Given the description of an element on the screen output the (x, y) to click on. 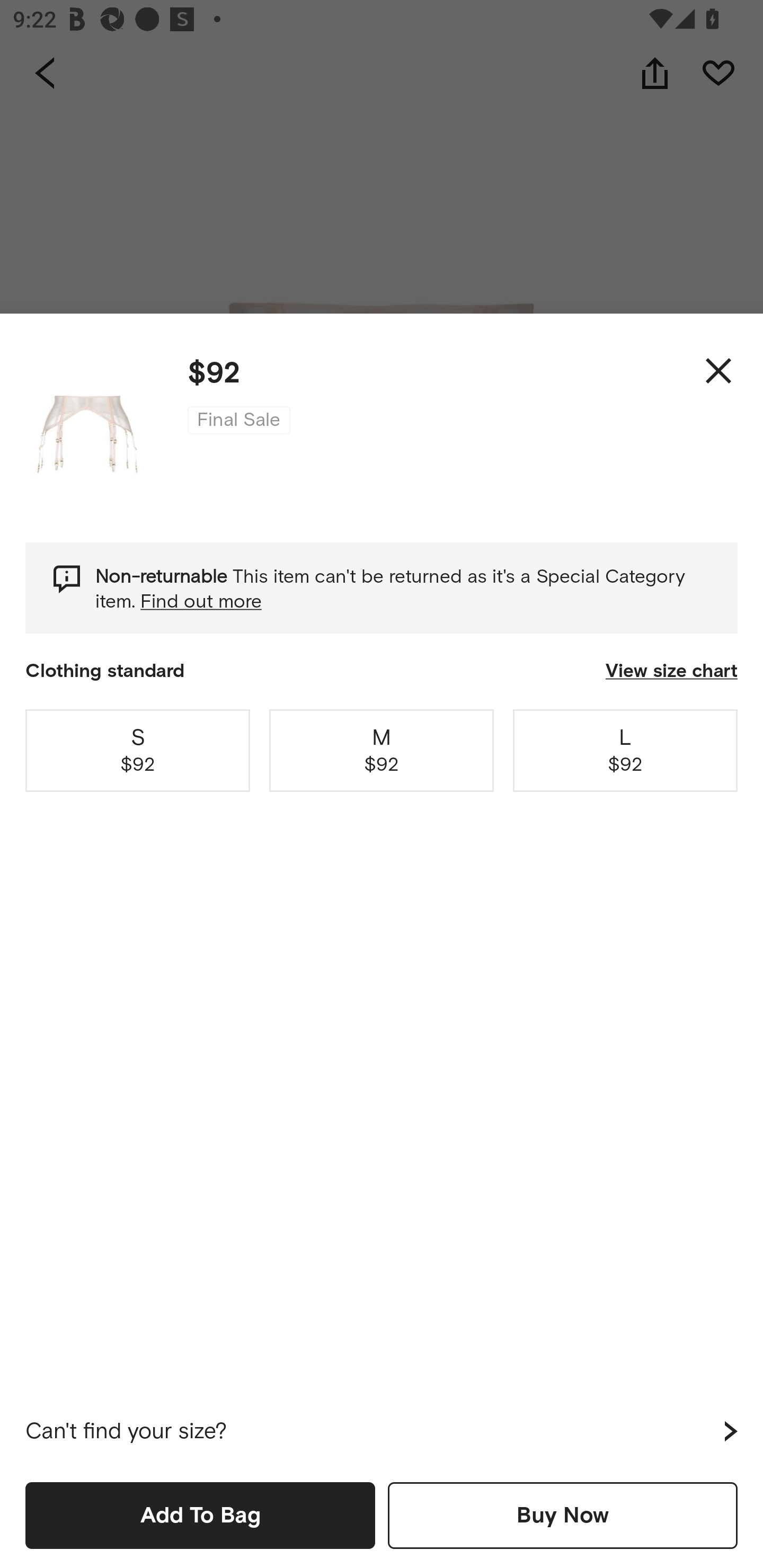
S $92 (137, 749)
M $92 (381, 749)
L $92 (624, 749)
Can't find your size? (381, 1431)
Add To Bag (200, 1515)
Buy Now (562, 1515)
